Given the description of an element on the screen output the (x, y) to click on. 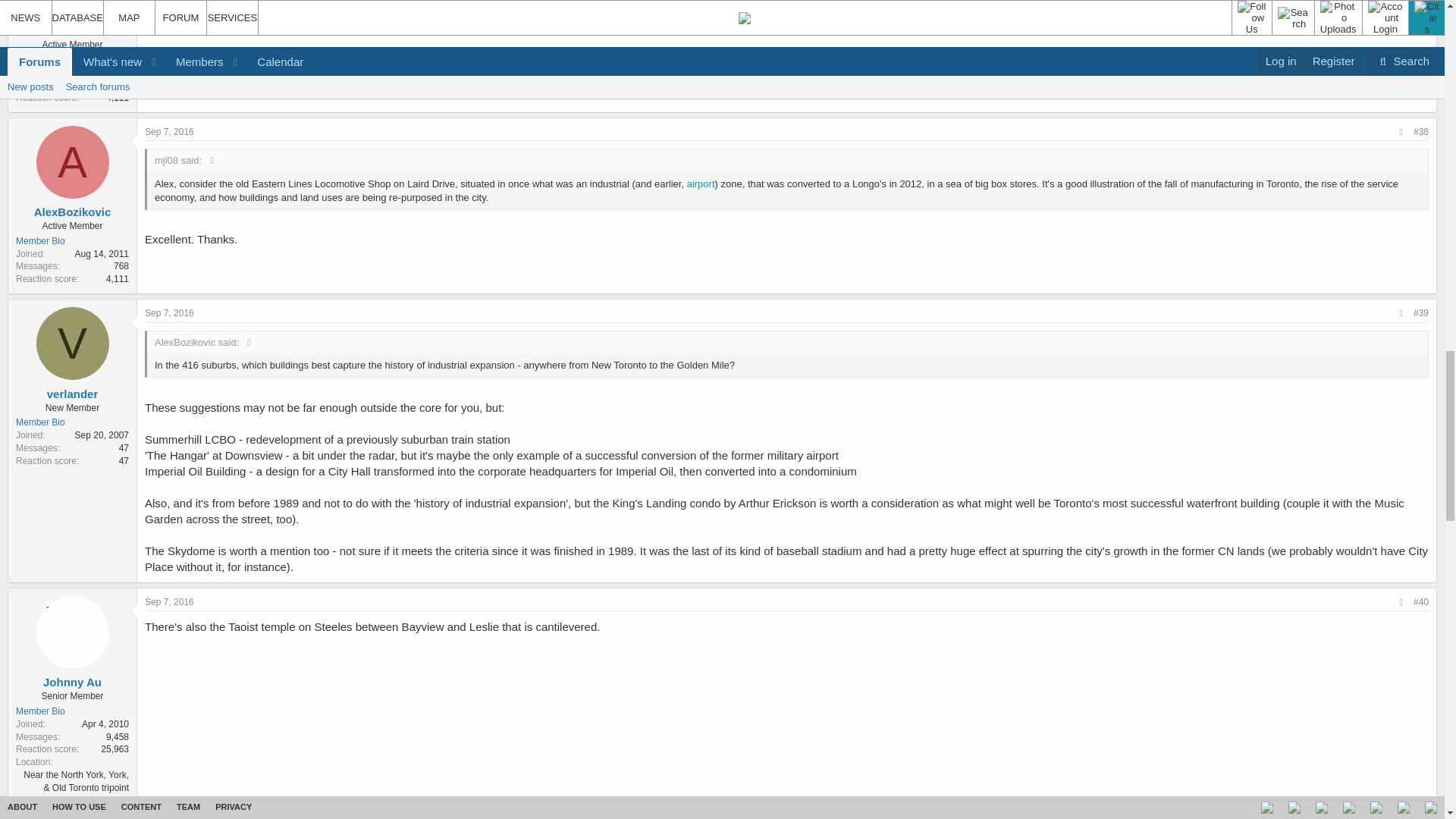
Sep 7, 2016 at 2:36 PM (168, 312)
Sep 7, 2016 at 12:56 PM (168, 131)
Sep 7, 2016 at 8:03 PM (168, 602)
